Given the description of an element on the screen output the (x, y) to click on. 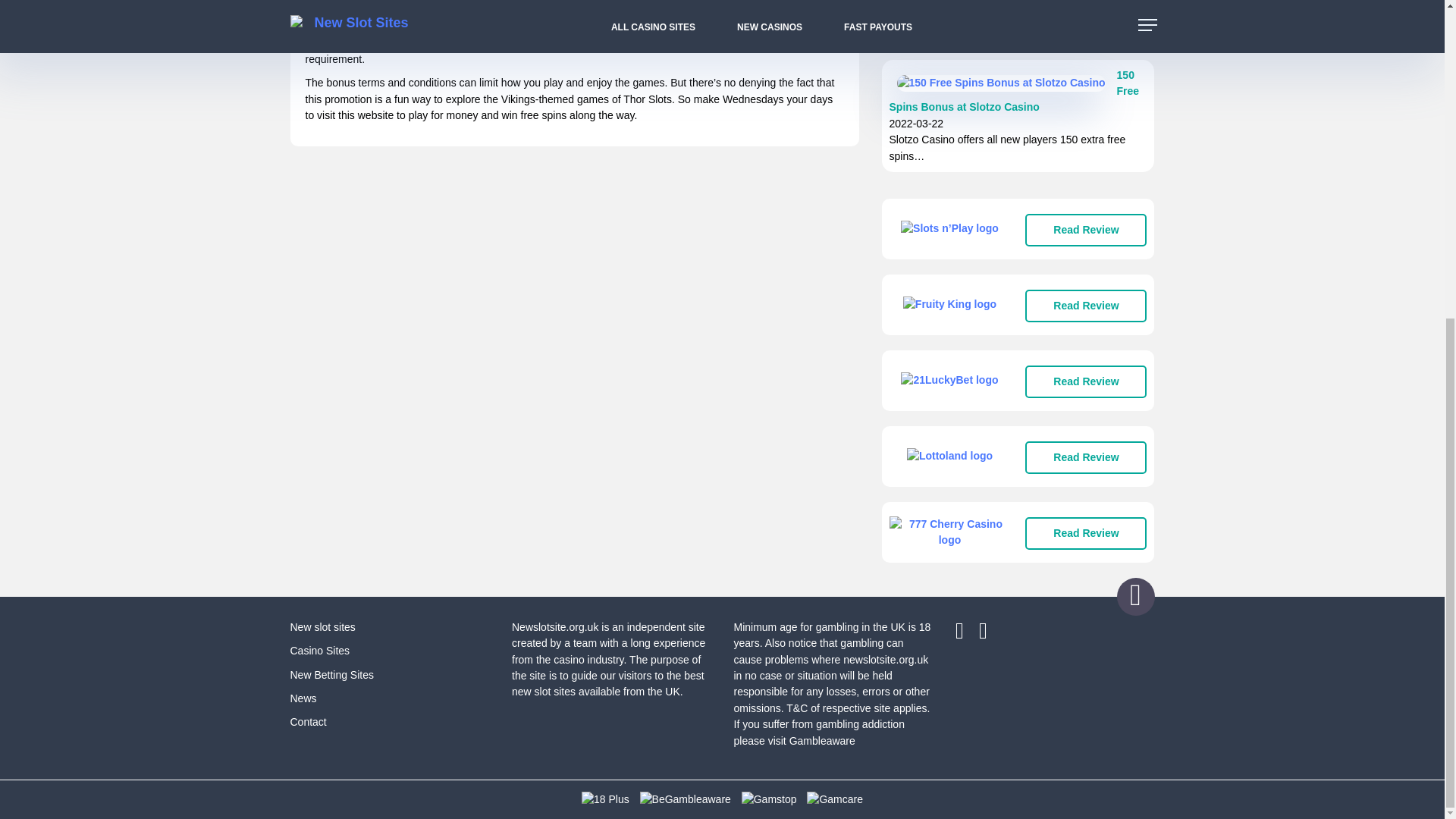
New Betting Sites (331, 674)
150 Free Spins Bonus at Slotzo Casino (1013, 90)
777 Cherry Casino (949, 532)
Read Review (1086, 229)
Read Review (1086, 457)
21LuckyBet (949, 380)
News (302, 698)
Facebook (966, 634)
Read Review (1086, 532)
Read Review (1086, 381)
